Given the description of an element on the screen output the (x, y) to click on. 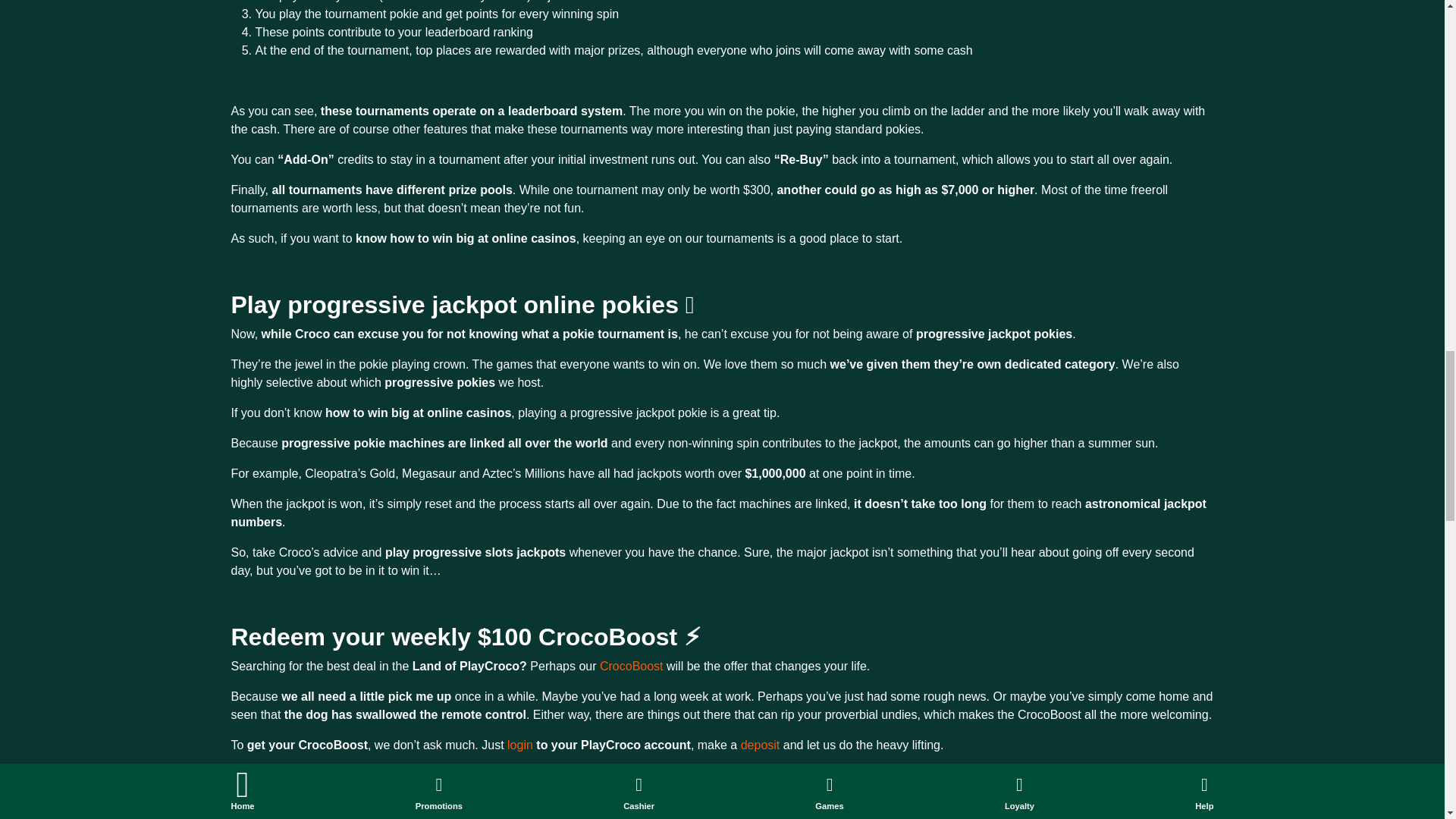
CrocoBoost (632, 666)
login (520, 744)
deposit (762, 744)
playcroco login (520, 744)
playcroco crocoboost (632, 666)
playcroco cashier (762, 744)
